Given the description of an element on the screen output the (x, y) to click on. 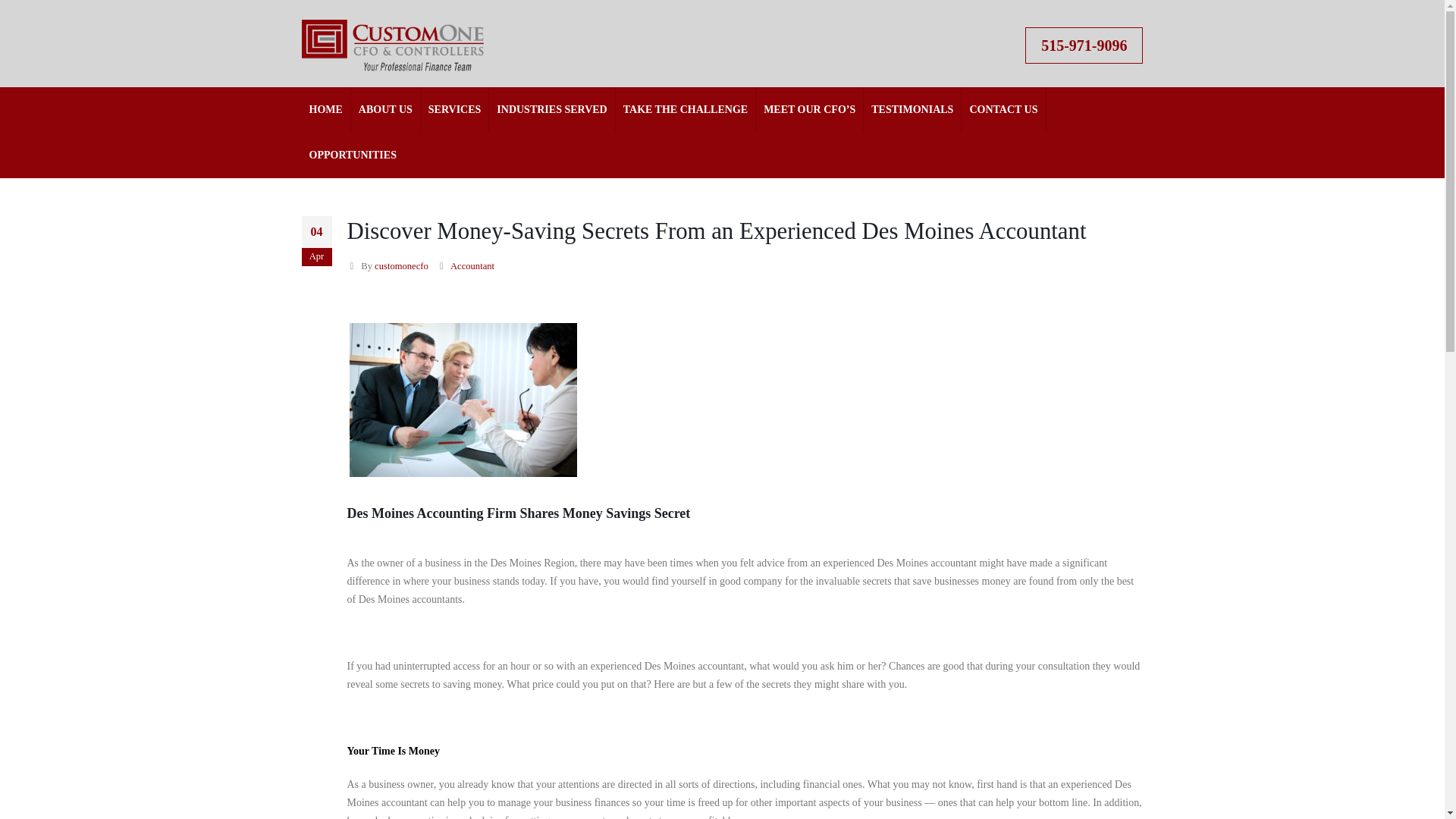
ABOUT US (385, 109)
Accountant (472, 266)
TAKE THE CHALLENGE (685, 109)
Posts by customonecfo (401, 266)
SERVICES (454, 109)
TESTIMONIALS (911, 109)
HOME (325, 109)
INDUSTRIES SERVED (551, 109)
OPPORTUNITIES (352, 155)
CONTACT US (1002, 109)
515-971-9096 (1083, 45)
customonecfo (401, 266)
